Given the description of an element on the screen output the (x, y) to click on. 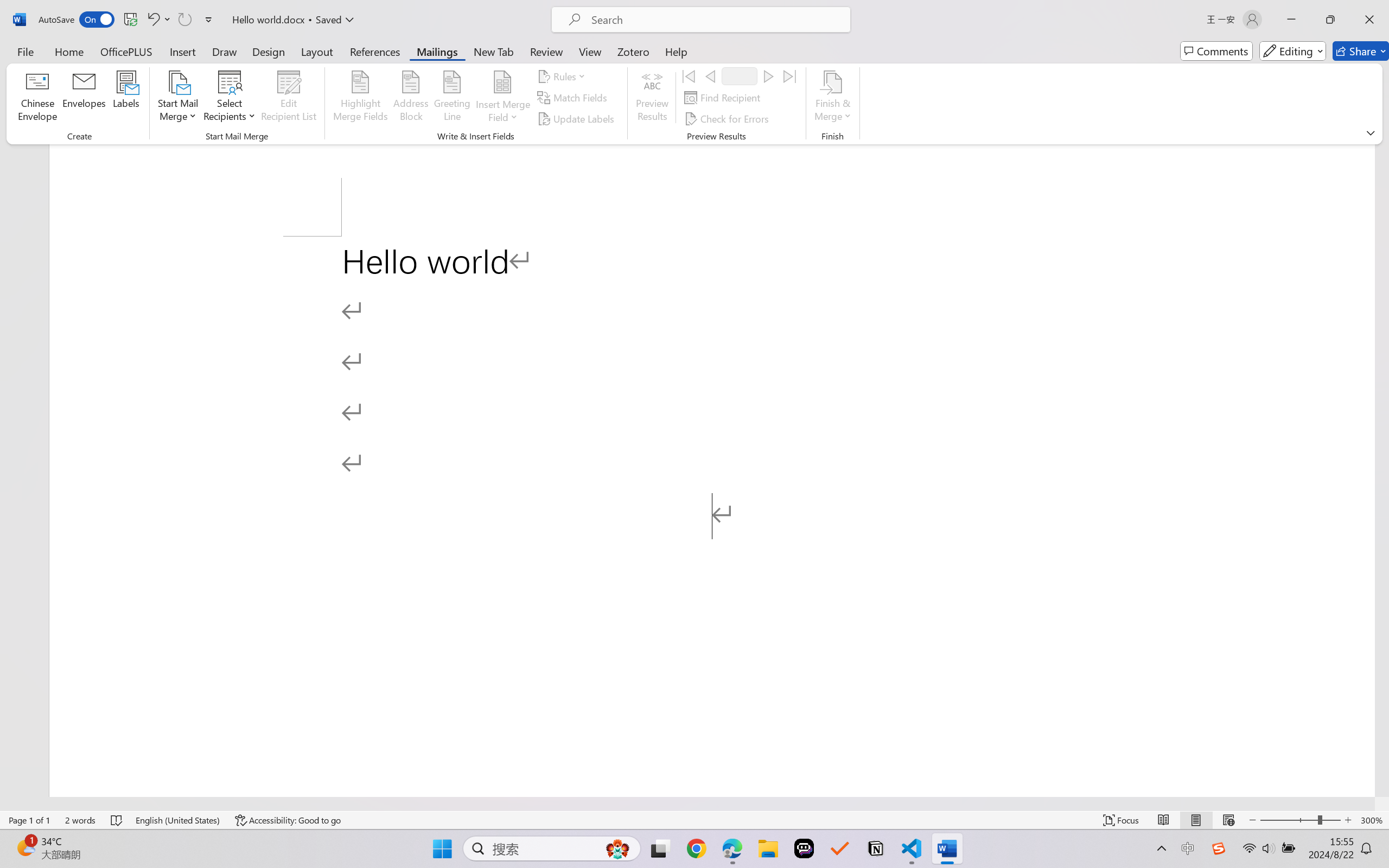
Draw (224, 51)
Select Recipients (229, 97)
Customize Quick Access Toolbar (208, 19)
Zoom (1300, 819)
